Given the description of an element on the screen output the (x, y) to click on. 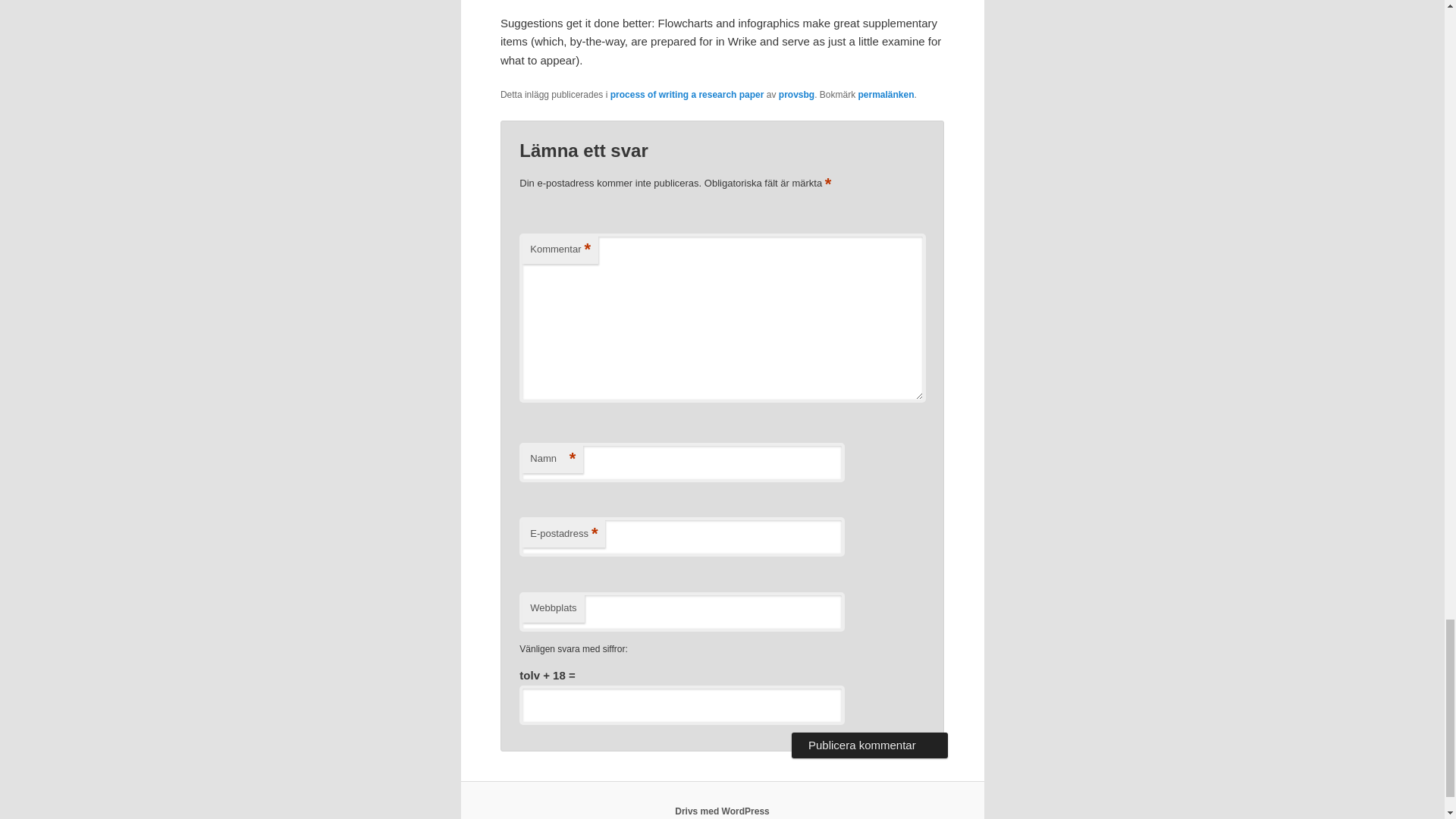
process of writing a research paper (687, 94)
Semantisk personlig publiceringsplattform (722, 810)
Drivs med WordPress (722, 810)
Publicera kommentar (869, 745)
Publicera kommentar (869, 745)
provsbg (795, 94)
